Given the description of an element on the screen output the (x, y) to click on. 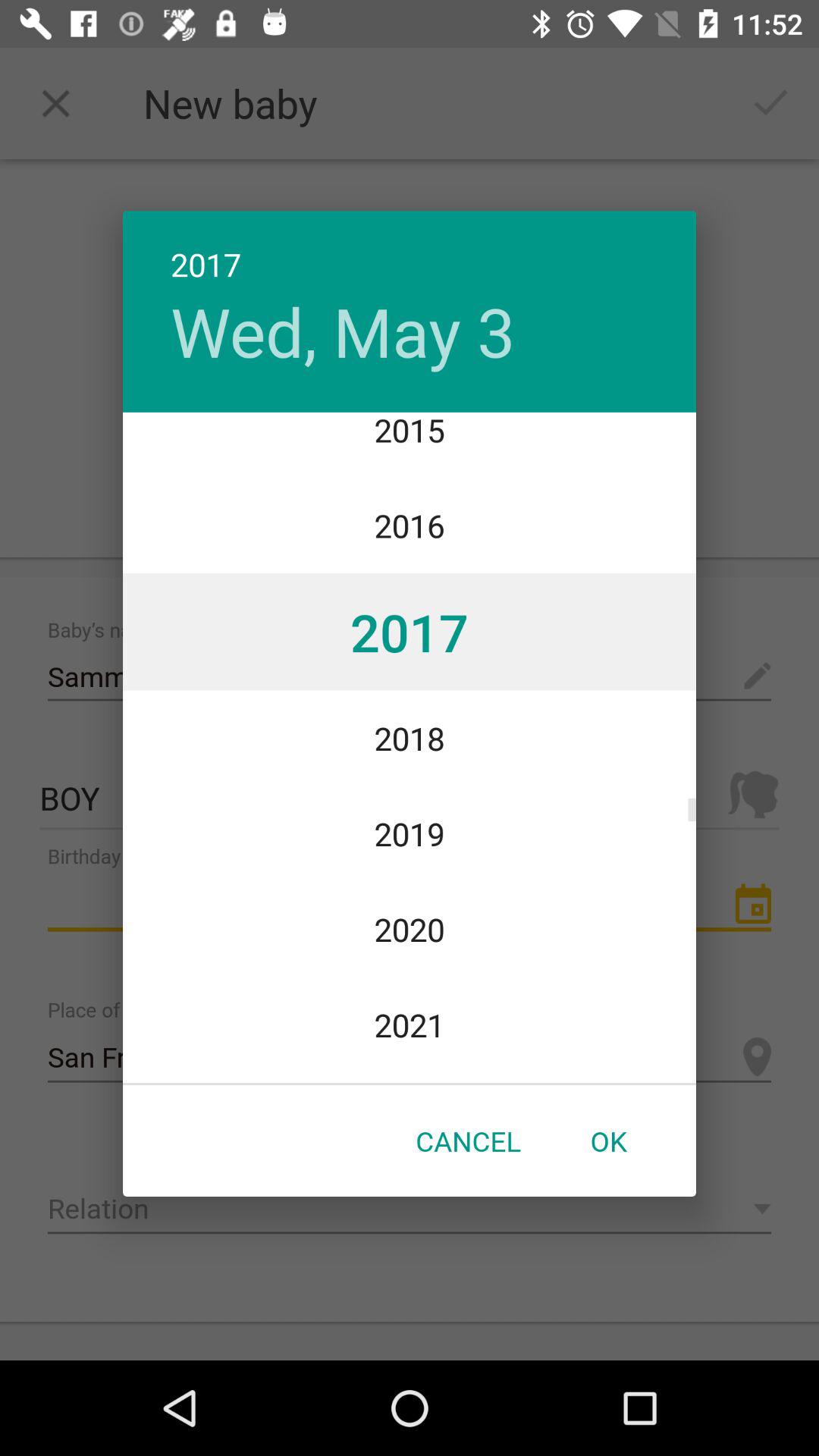
open the item next to ok icon (467, 1140)
